Given the description of an element on the screen output the (x, y) to click on. 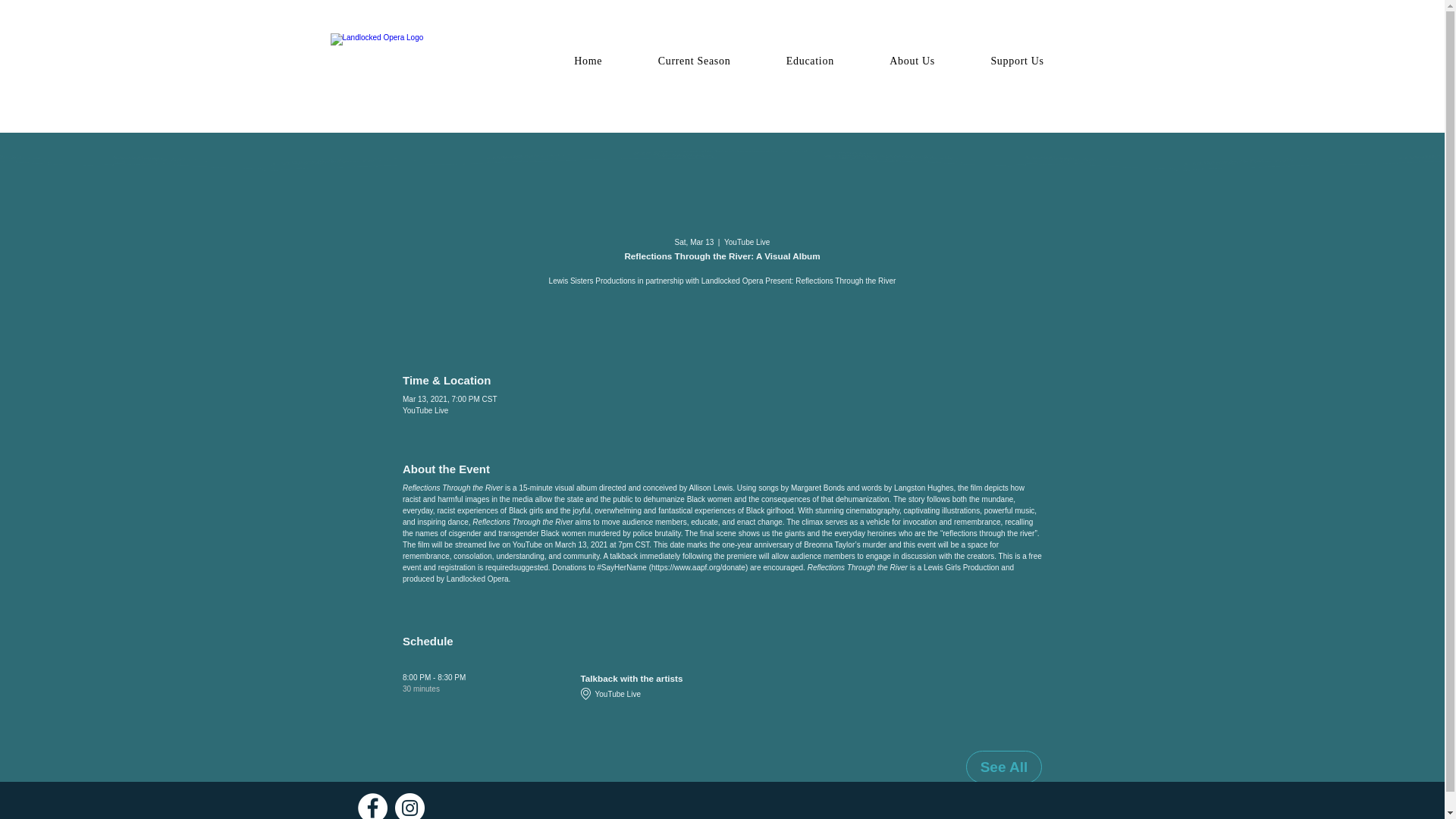
About Us (911, 61)
Support Us (1017, 61)
See All (1004, 766)
Current Season (694, 61)
Home (587, 61)
Education (810, 61)
